Given the description of an element on the screen output the (x, y) to click on. 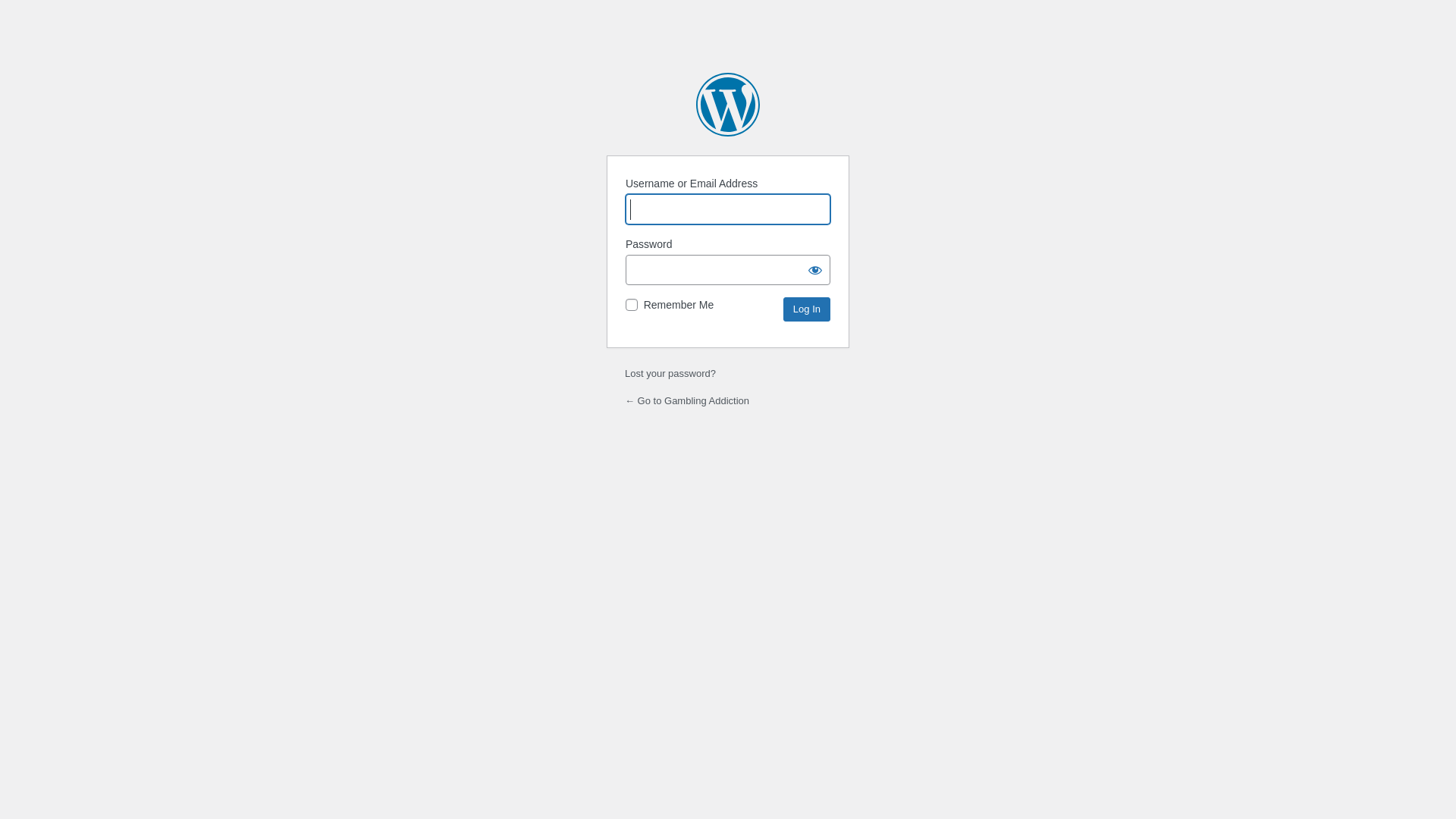
Log In Element type: text (806, 309)
Powered by WordPress Element type: text (727, 104)
Lost your password? Element type: text (669, 373)
